Given the description of an element on the screen output the (x, y) to click on. 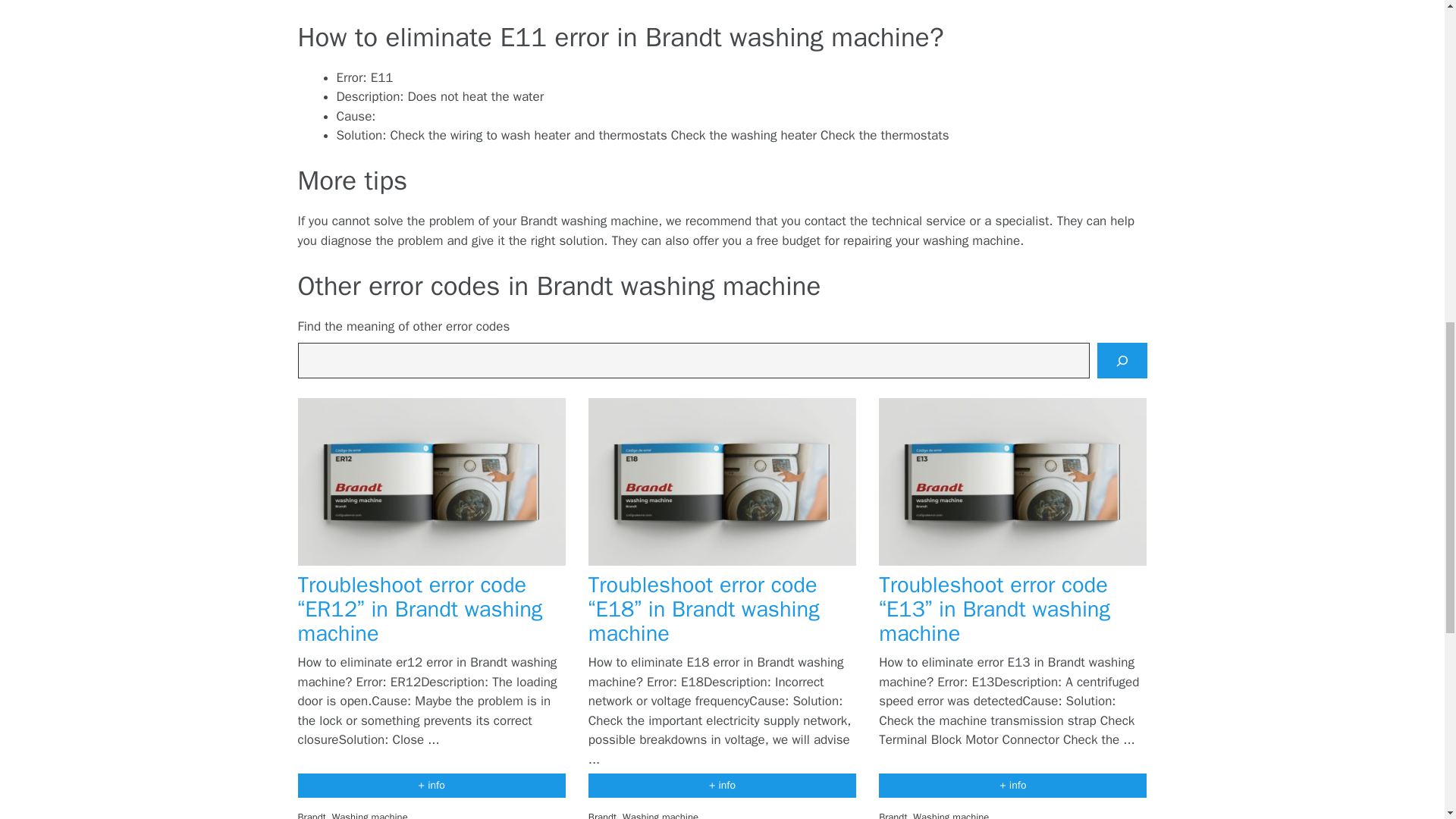
Brandt (893, 814)
Brandt (601, 814)
Washing machine (660, 814)
Washing machine (369, 814)
Brandt (310, 814)
Washing machine (950, 814)
